Given the description of an element on the screen output the (x, y) to click on. 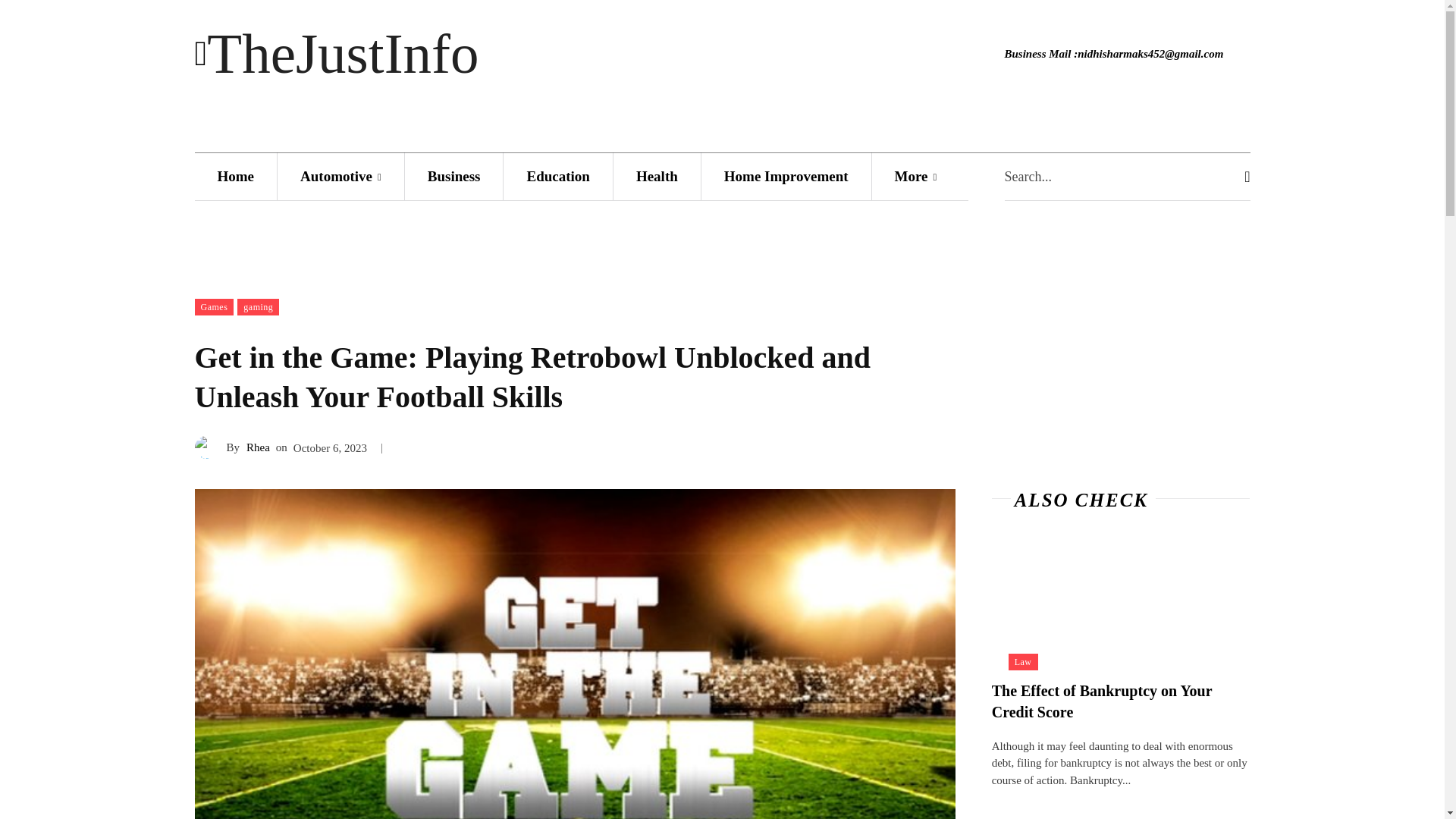
Health (656, 175)
Home (234, 175)
Rhea (209, 445)
Education (557, 175)
The Effect of Bankruptcy on Your Credit Score (1101, 701)
TheJustInfo (580, 53)
Automotive (341, 175)
The Effect of Bankruptcy on Your Credit Score (1120, 605)
Business (453, 175)
